Given the description of an element on the screen output the (x, y) to click on. 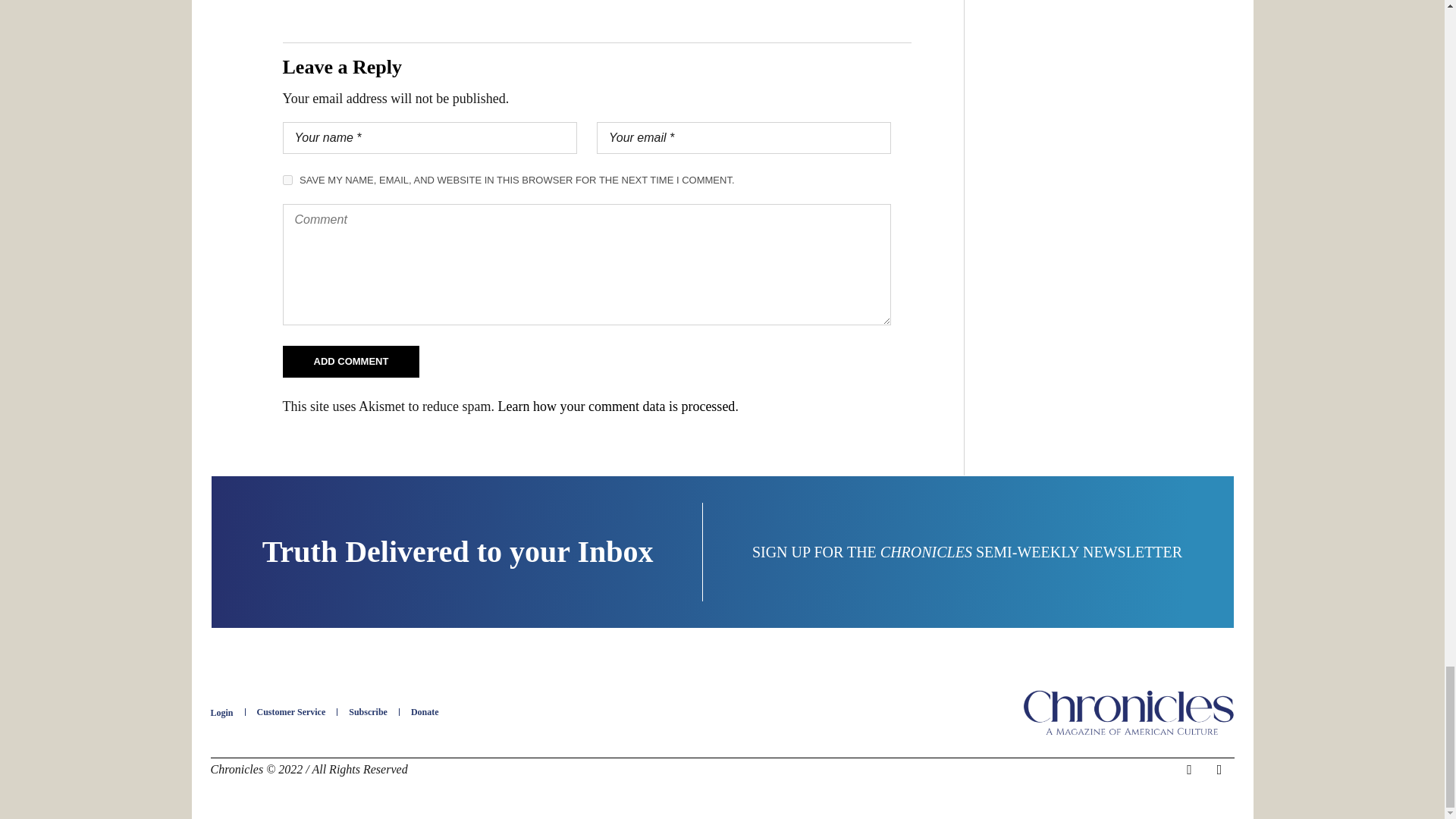
Add Comment (350, 361)
Learn how your comment data is processed (616, 406)
Facebook (1189, 769)
Login (221, 712)
Donate (424, 711)
Twitter (1219, 769)
Customer Service (291, 711)
Add Comment (350, 361)
yes (287, 180)
